Given the description of an element on the screen output the (x, y) to click on. 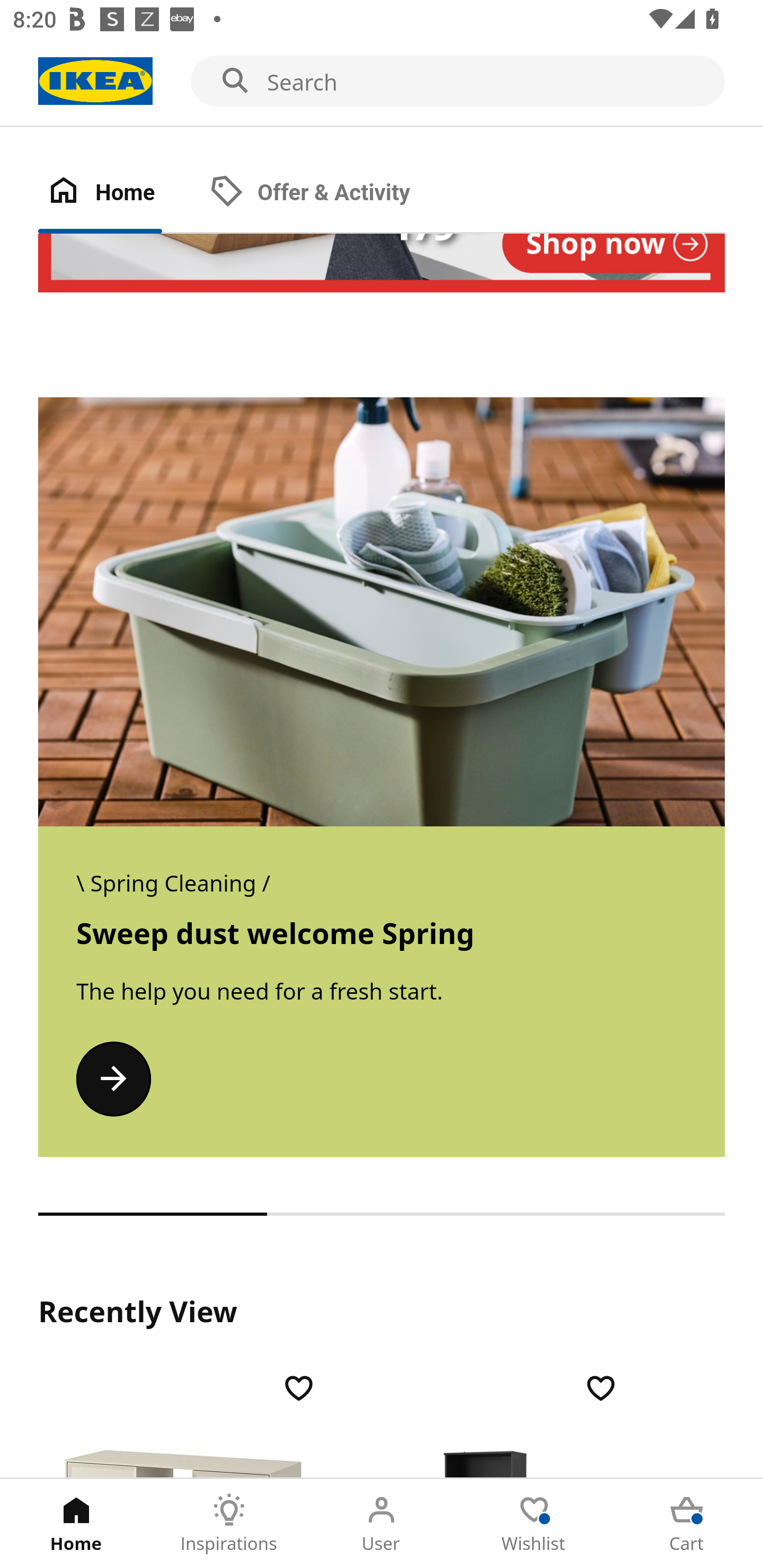
Search (381, 81)
Home
Tab 1 of 2 (118, 192)
Offer & Activity
Tab 2 of 2 (327, 192)
Home
Tab 1 of 5 (76, 1522)
Inspirations
Tab 2 of 5 (228, 1522)
User
Tab 3 of 5 (381, 1522)
Wishlist
Tab 4 of 5 (533, 1522)
Cart
Tab 5 of 5 (686, 1522)
